Given the description of an element on the screen output the (x, y) to click on. 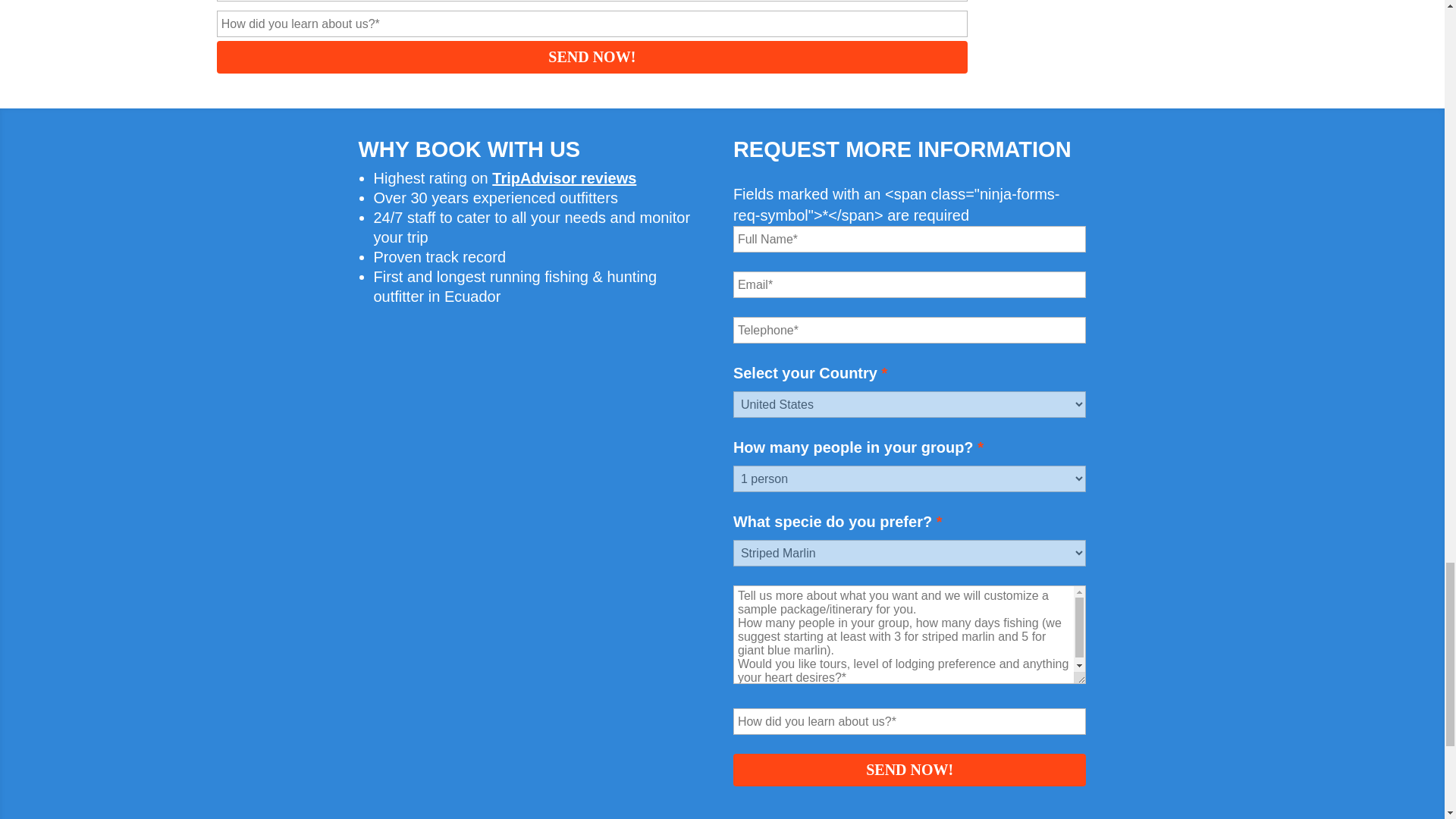
SEND NOW! (592, 56)
SEND NOW! (909, 769)
